Given the description of an element on the screen output the (x, y) to click on. 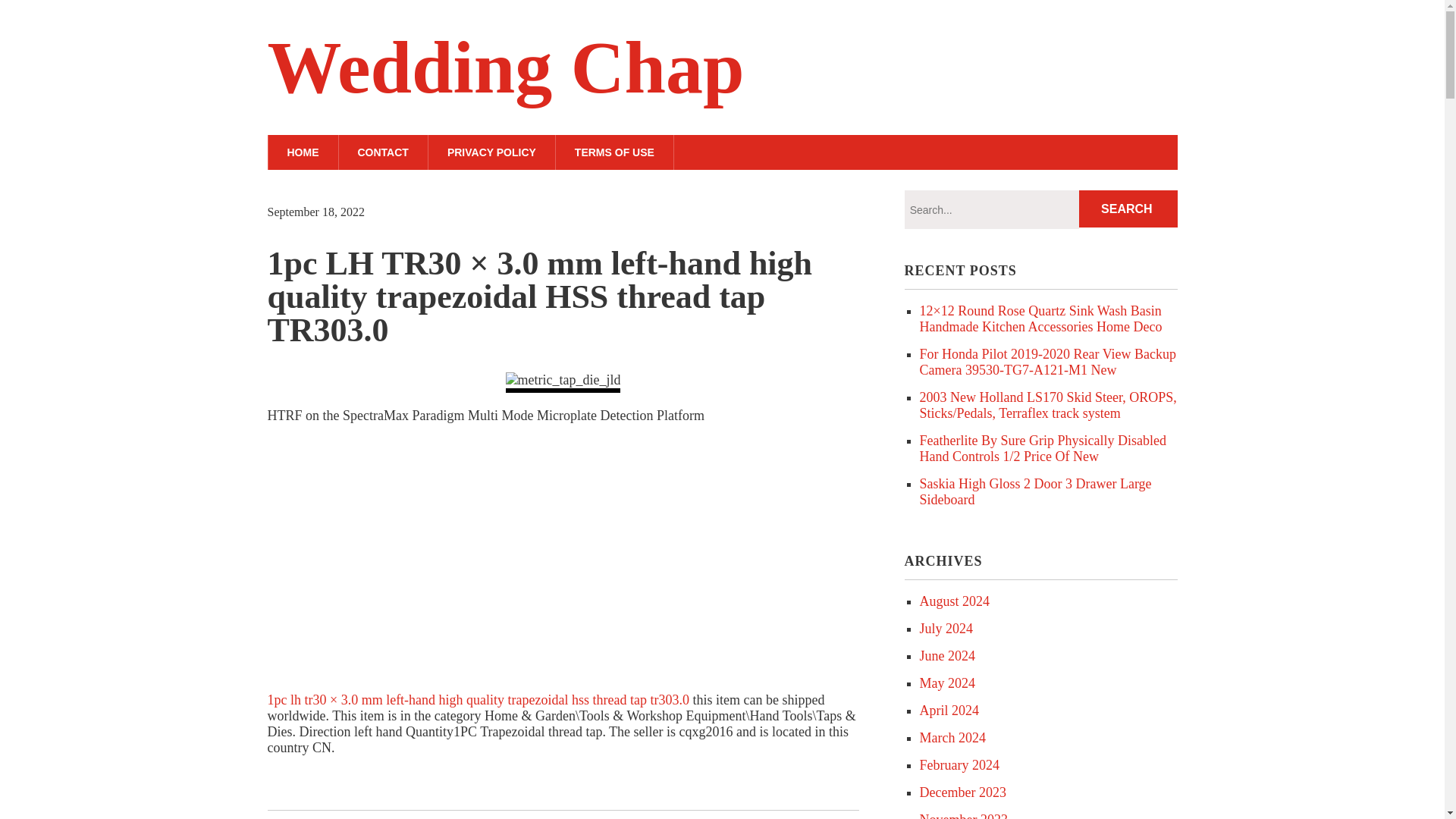
Search (1127, 208)
HOME (301, 152)
December 2023 (962, 792)
TERMS OF USE (615, 152)
May 2024 (946, 683)
March 2024 (951, 737)
CONTACT (382, 152)
Search (1127, 208)
April 2024 (948, 710)
February 2024 (958, 765)
